Given the description of an element on the screen output the (x, y) to click on. 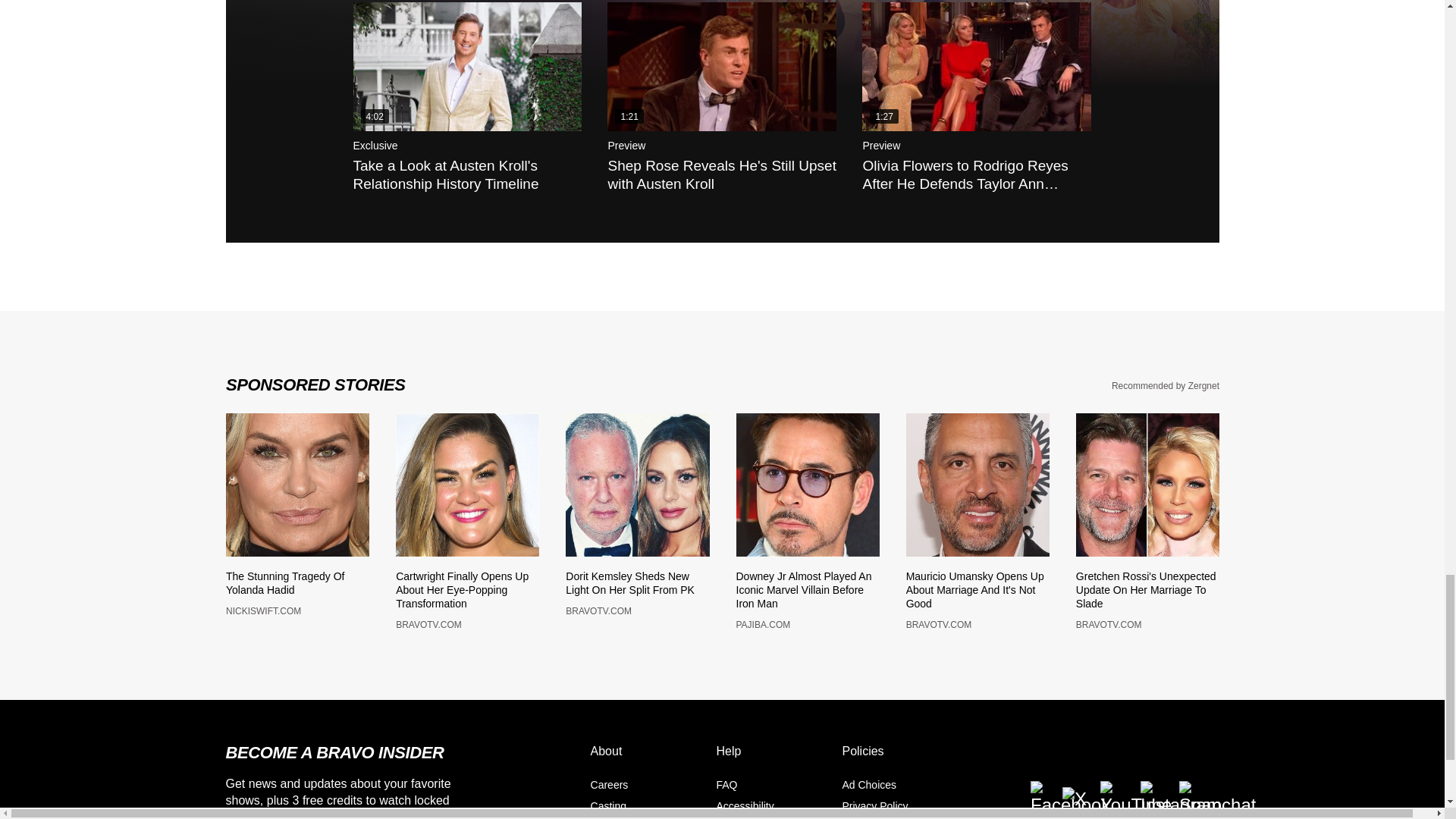
Shep Rose Reveals He's Still Upset with Austen Kroll (721, 66)
Take a Look at Austen Kroll's Relationship History Timeline (467, 66)
